Given the description of an element on the screen output the (x, y) to click on. 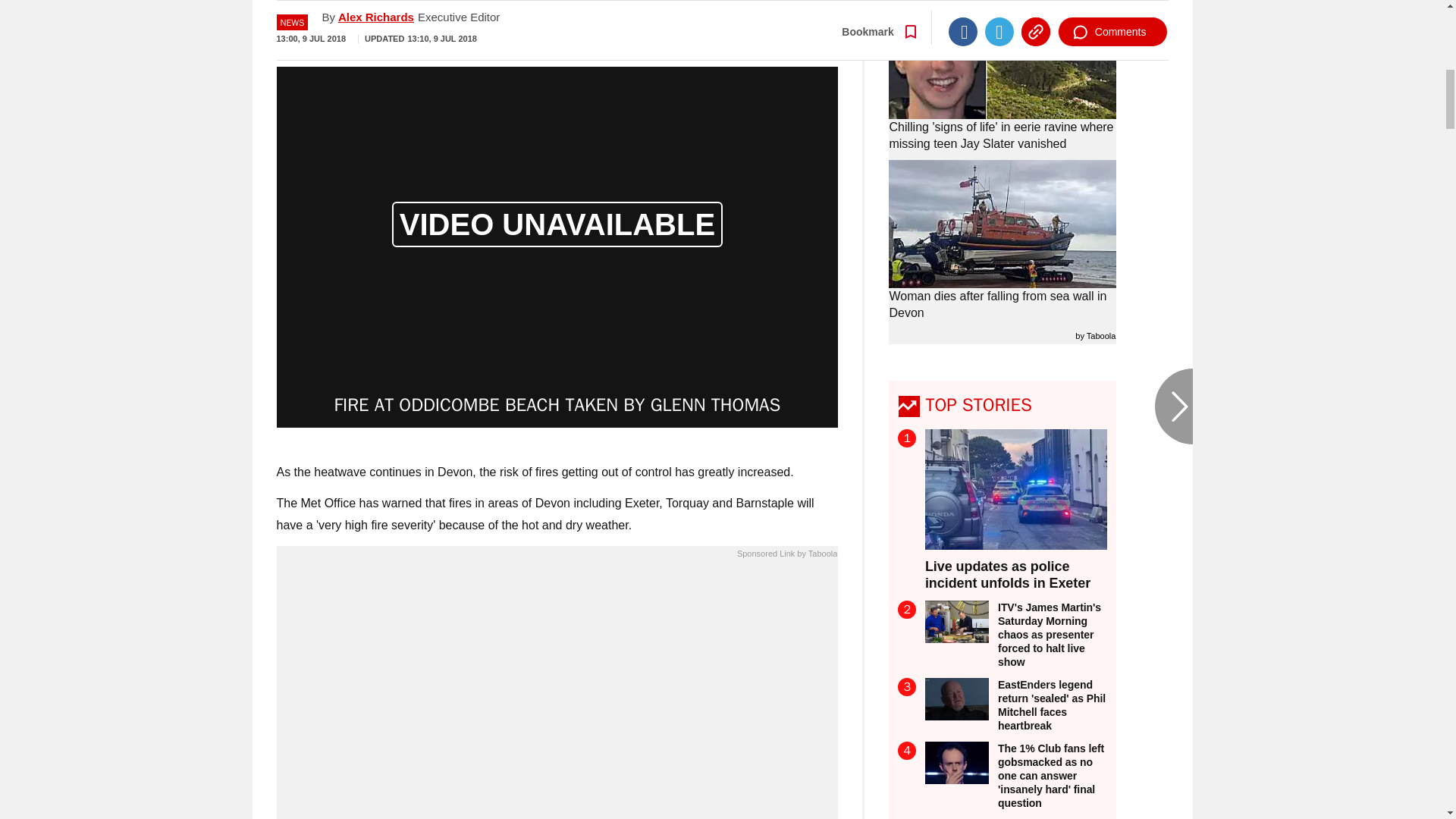
Go (730, 17)
